Given the description of an element on the screen output the (x, y) to click on. 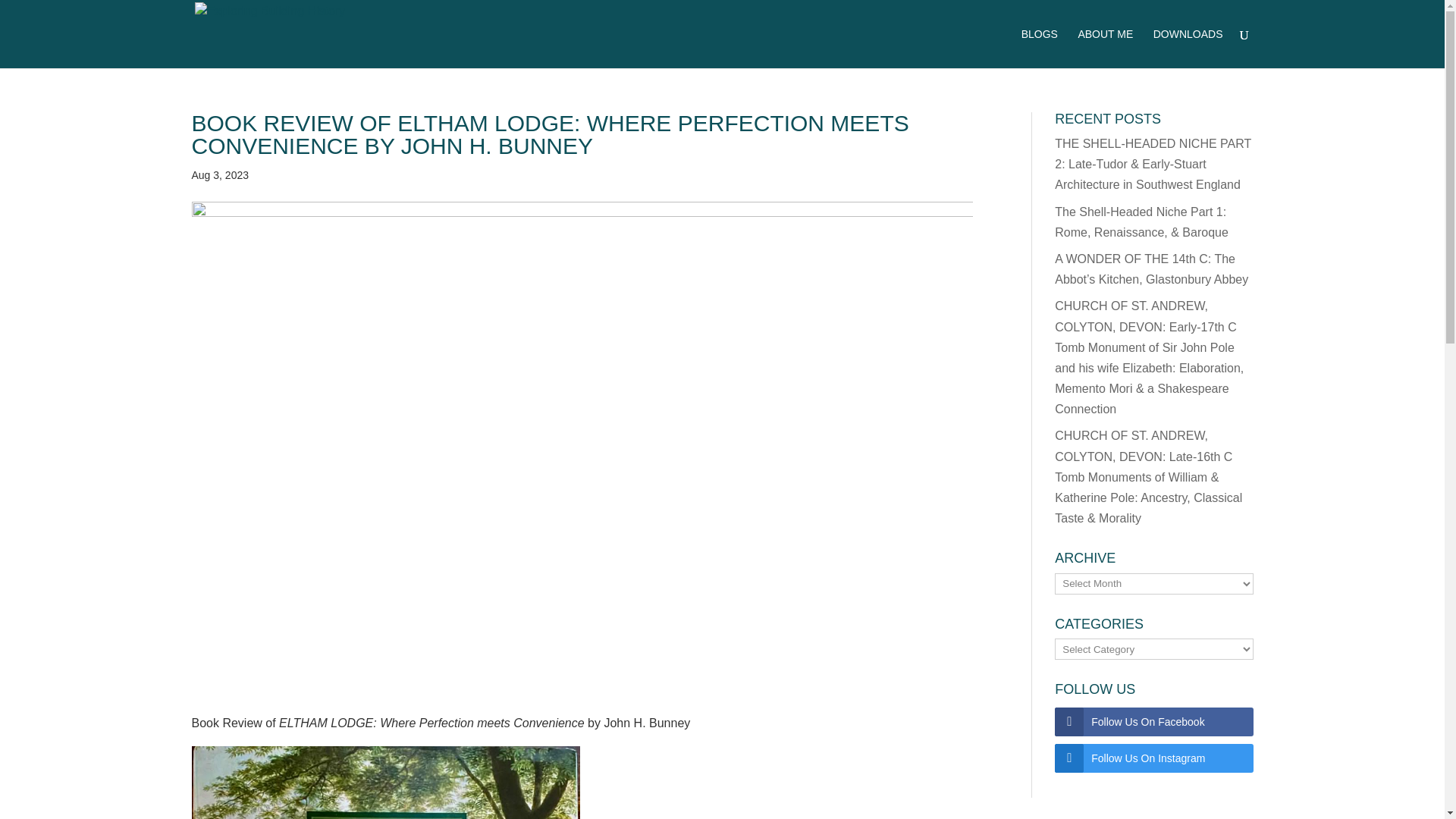
Follow Us On Facebook (1153, 721)
BLOGS (1040, 47)
Follow Us On Instagram (1153, 758)
DOWNLOADS (1188, 47)
ABOUT ME (1104, 47)
